Given the description of an element on the screen output the (x, y) to click on. 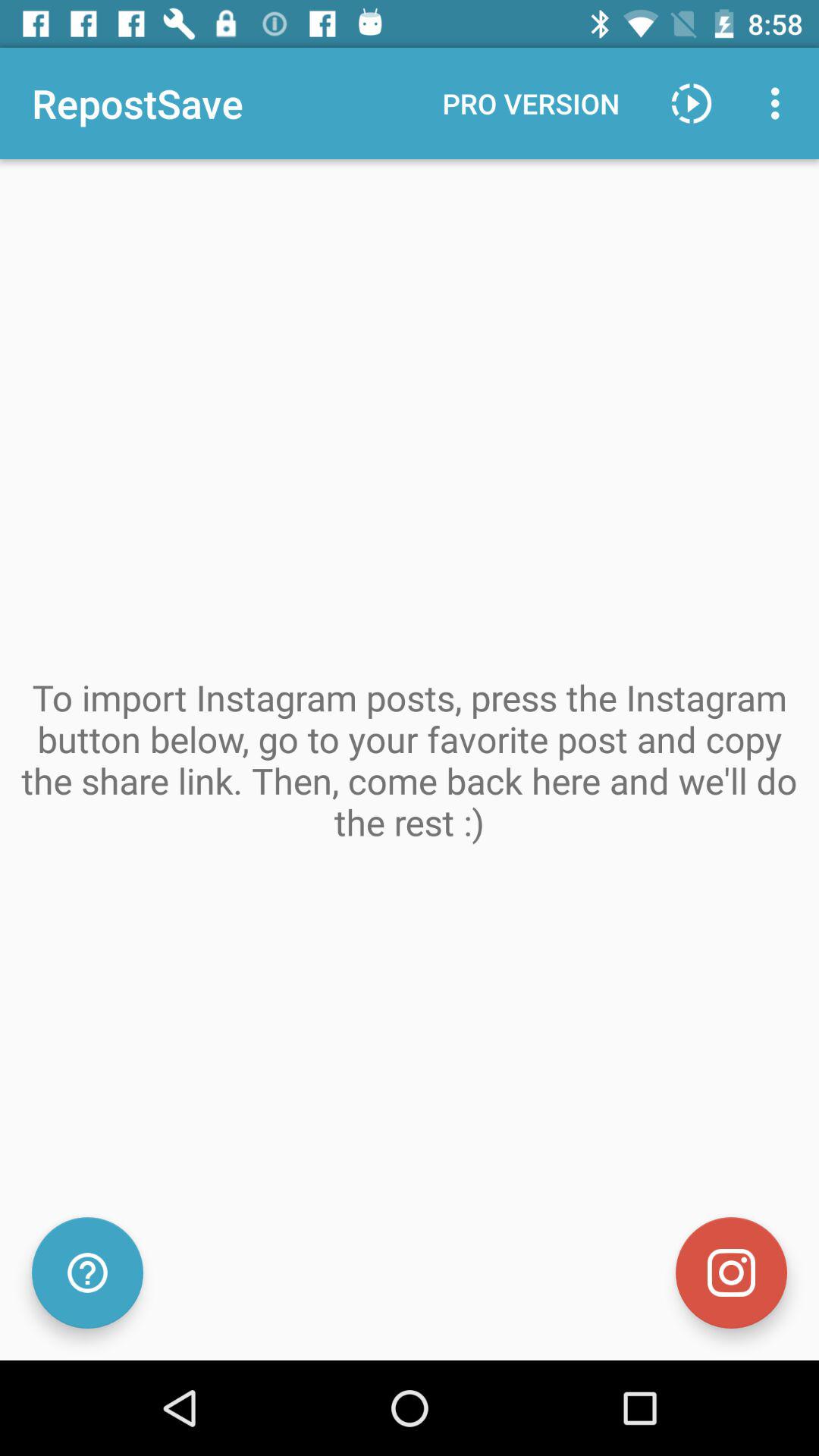
open instagram (731, 1272)
